Given the description of an element on the screen output the (x, y) to click on. 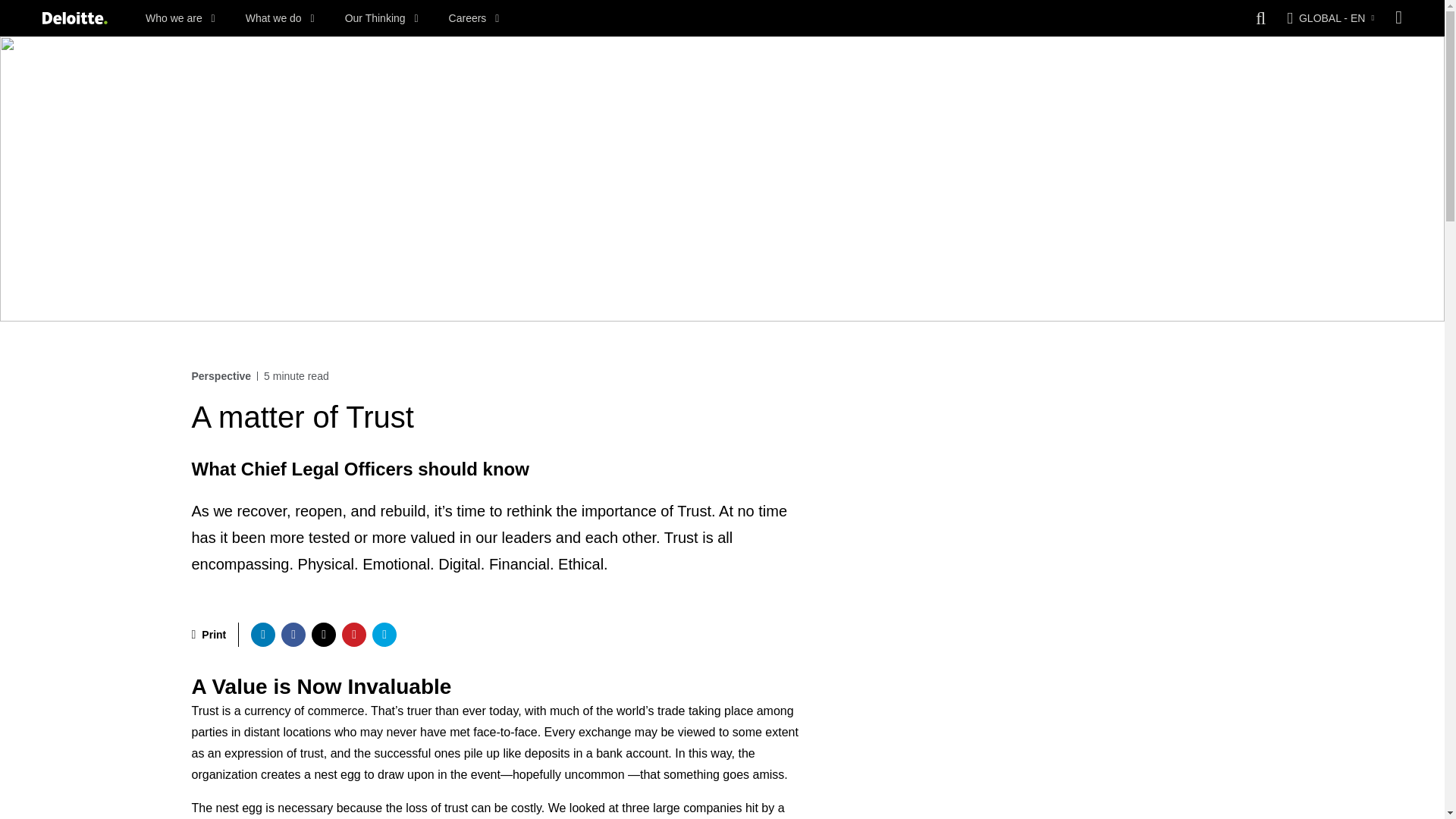
share via linkedin (262, 634)
share via facebook (293, 634)
Careers (473, 18)
Deloitte (74, 18)
share via twitter (323, 634)
Print (207, 634)
share via email (384, 634)
Who we are (180, 18)
Our Thinking (382, 18)
What we do (280, 18)
share via pinterest (354, 634)
